Given the description of an element on the screen output the (x, y) to click on. 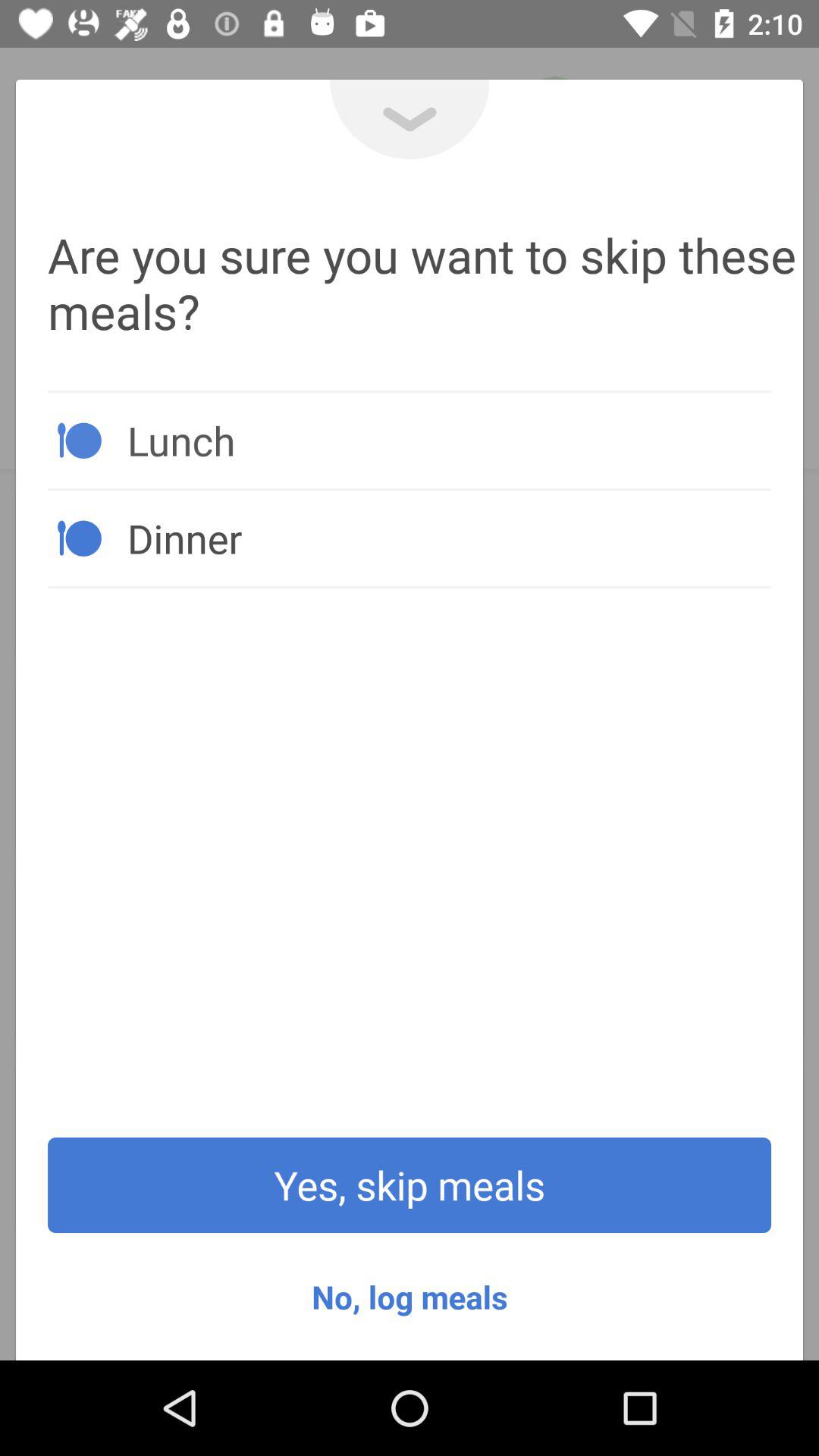
flip to lunch icon (449, 440)
